Given the description of an element on the screen output the (x, y) to click on. 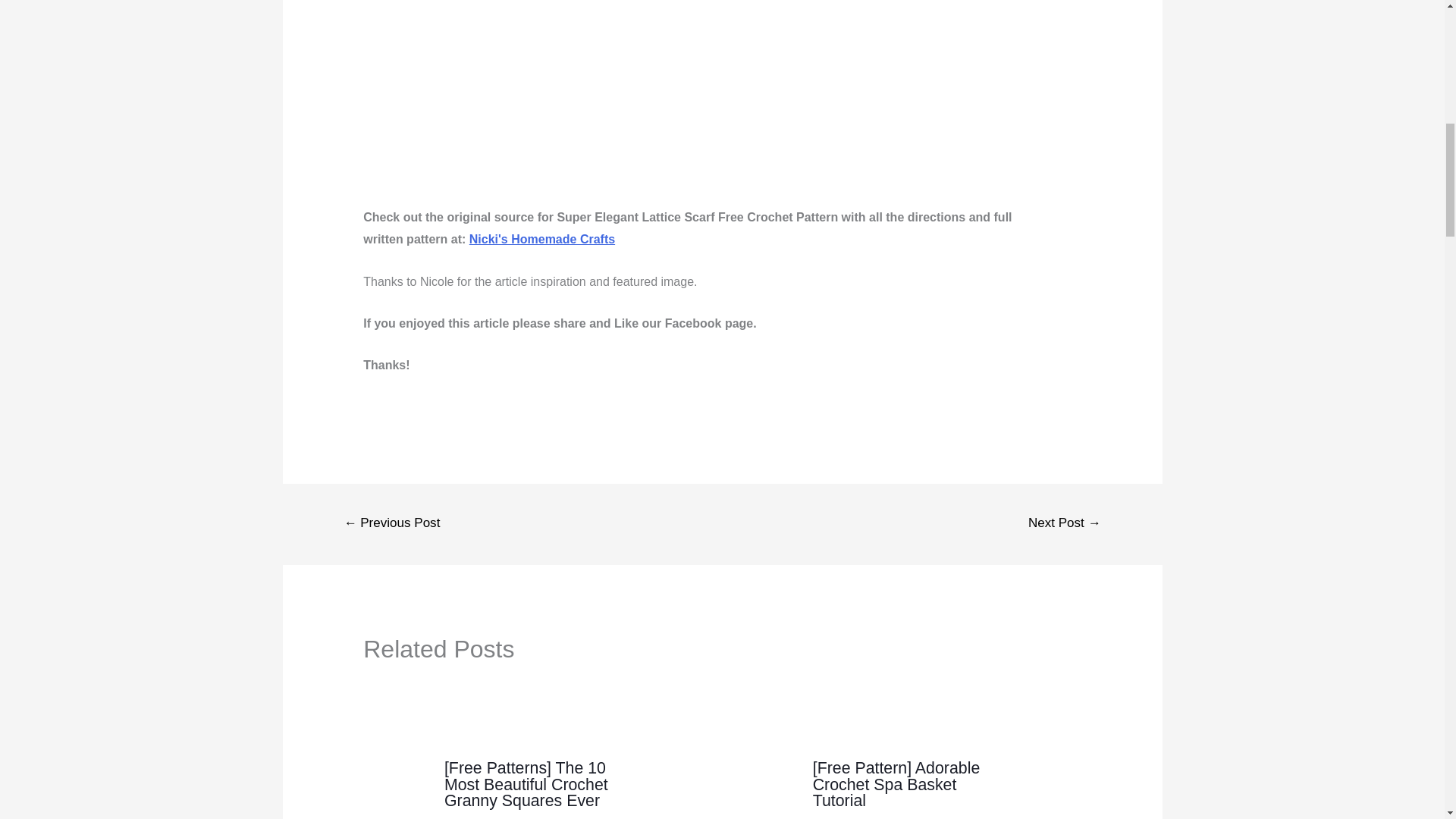
4 Comments (476, 818)
Free Crochet Patterns (513, 818)
14 Comments (847, 818)
Nicki's Homemade Crafts (541, 238)
Free Crochet Patterns (885, 818)
